Given the description of an element on the screen output the (x, y) to click on. 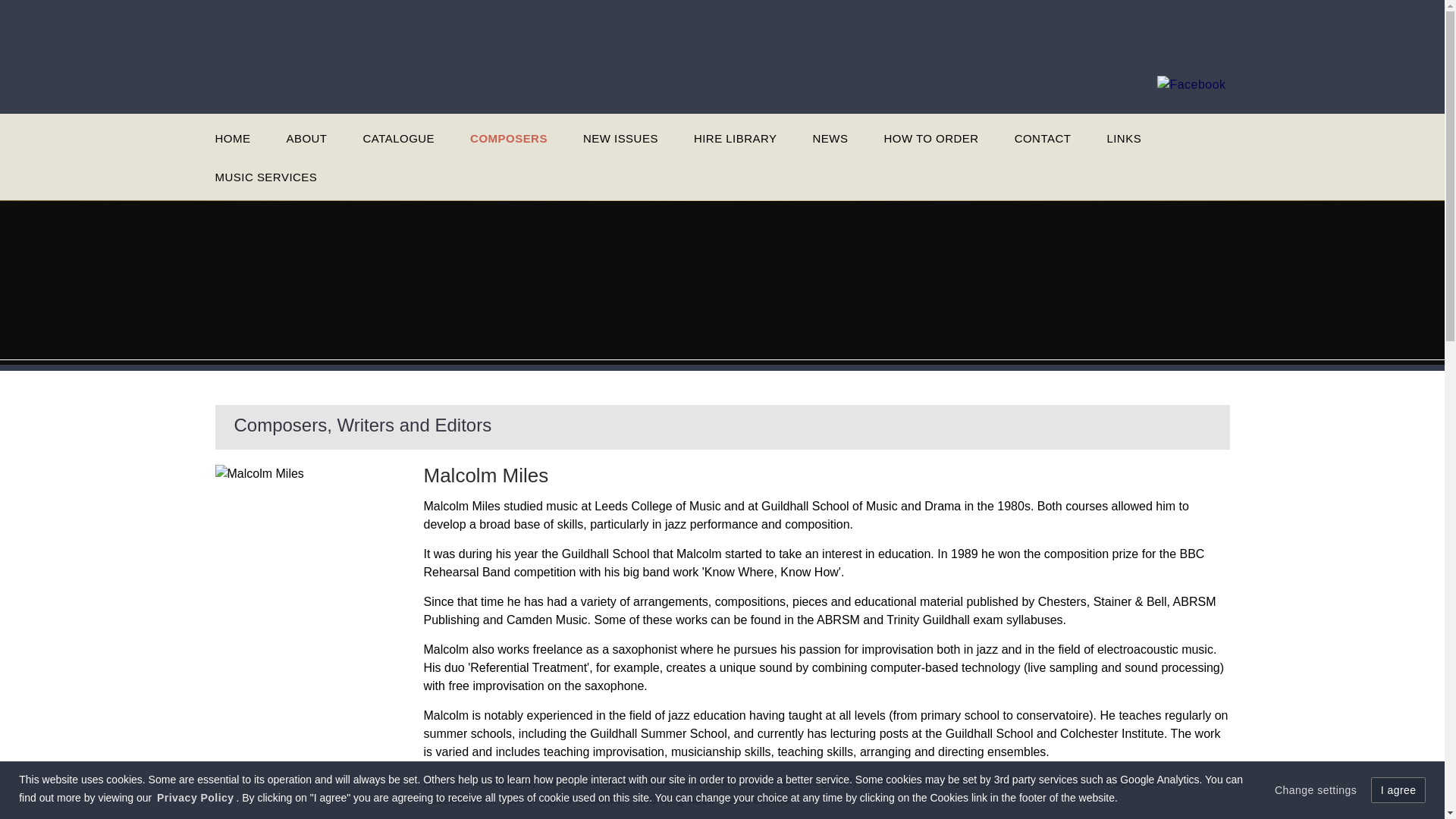
I agree (1398, 790)
COMPOSERS (508, 140)
HIRE LIBRARY (735, 140)
ABOUT (305, 140)
HOME (232, 140)
Follow me on Facebook (1191, 85)
Change settings (1316, 790)
NEW ISSUES (620, 140)
CATALOGUE (397, 140)
Privacy Policy (194, 797)
